Given the description of an element on the screen output the (x, y) to click on. 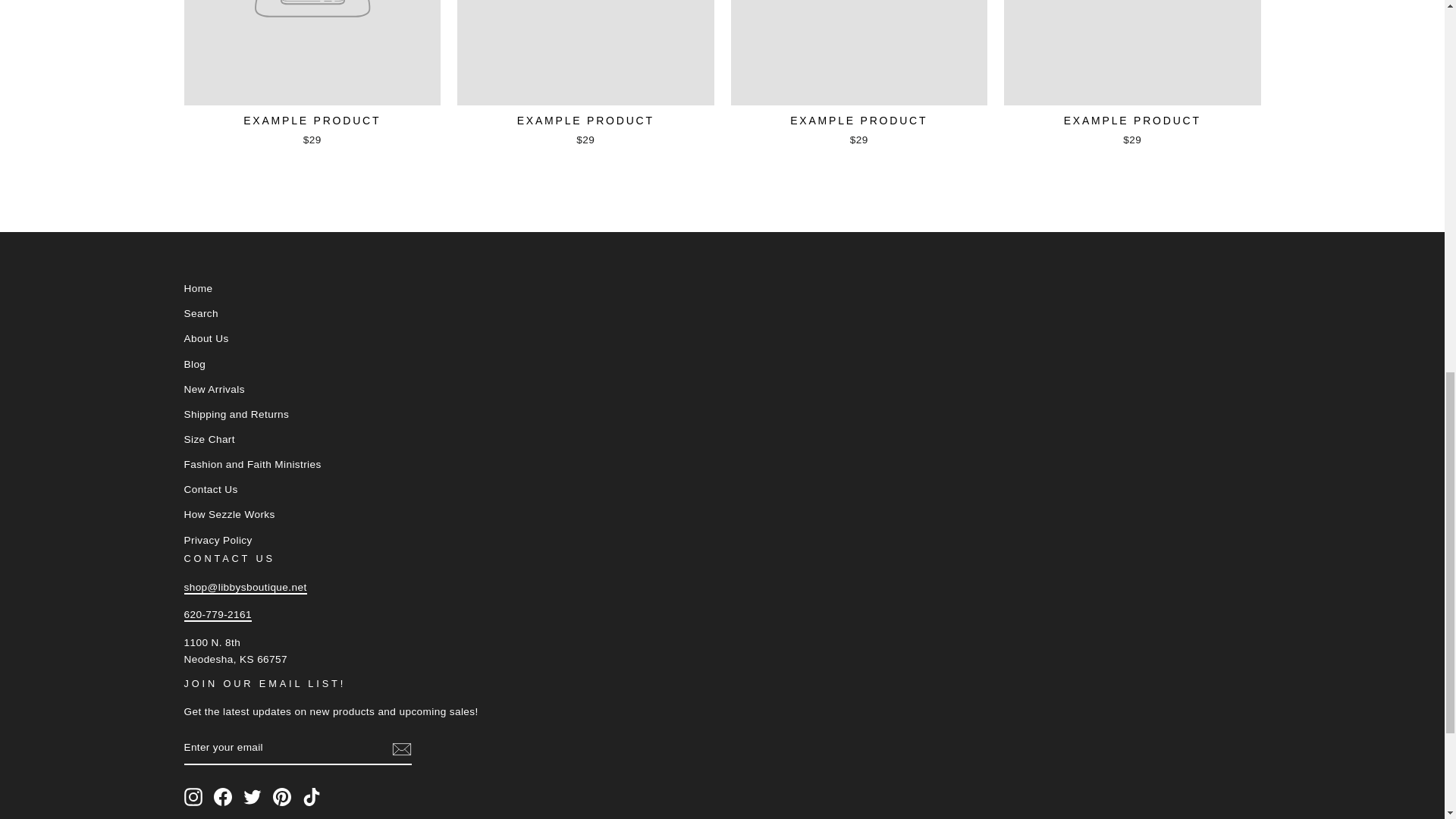
Libby's Boutique on Facebook (222, 796)
Libby's Boutique on TikTok (310, 796)
Libby's Boutique on Pinterest (282, 796)
twitter (251, 796)
Libby's Boutique on Instagram (192, 796)
Libby's Boutique on Twitter (251, 796)
icon-email (400, 749)
instagram (192, 796)
